Given the description of an element on the screen output the (x, y) to click on. 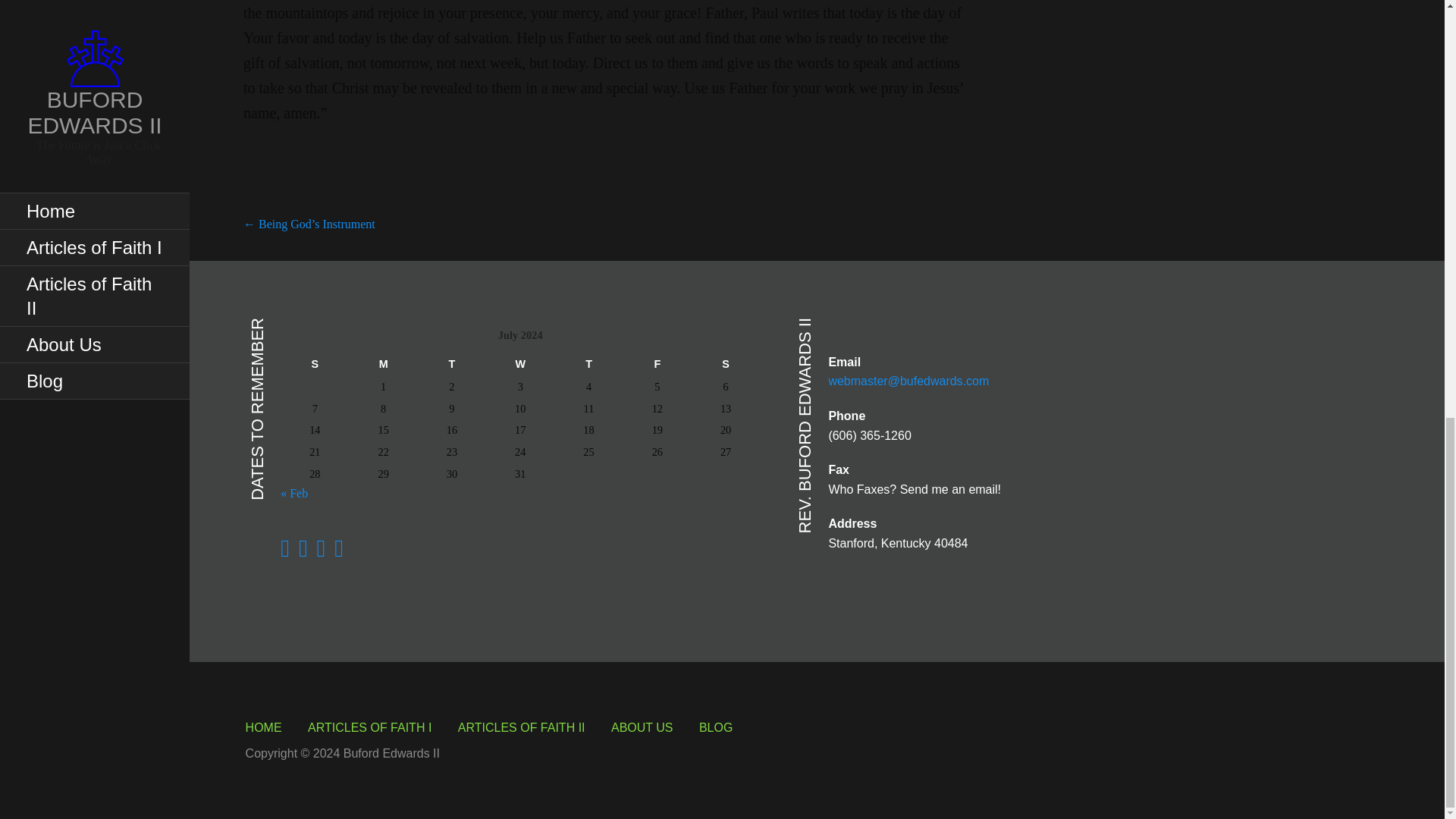
Monday (382, 363)
ARTICLES OF FAITH I (368, 727)
Wednesday (520, 363)
Thursday (588, 363)
Saturday (725, 363)
ABOUT US (641, 727)
BLOG (715, 727)
Tuesday (451, 363)
HOME (264, 727)
Friday (657, 363)
ARTICLES OF FAITH II (521, 727)
Sunday (315, 363)
